Given the description of an element on the screen output the (x, y) to click on. 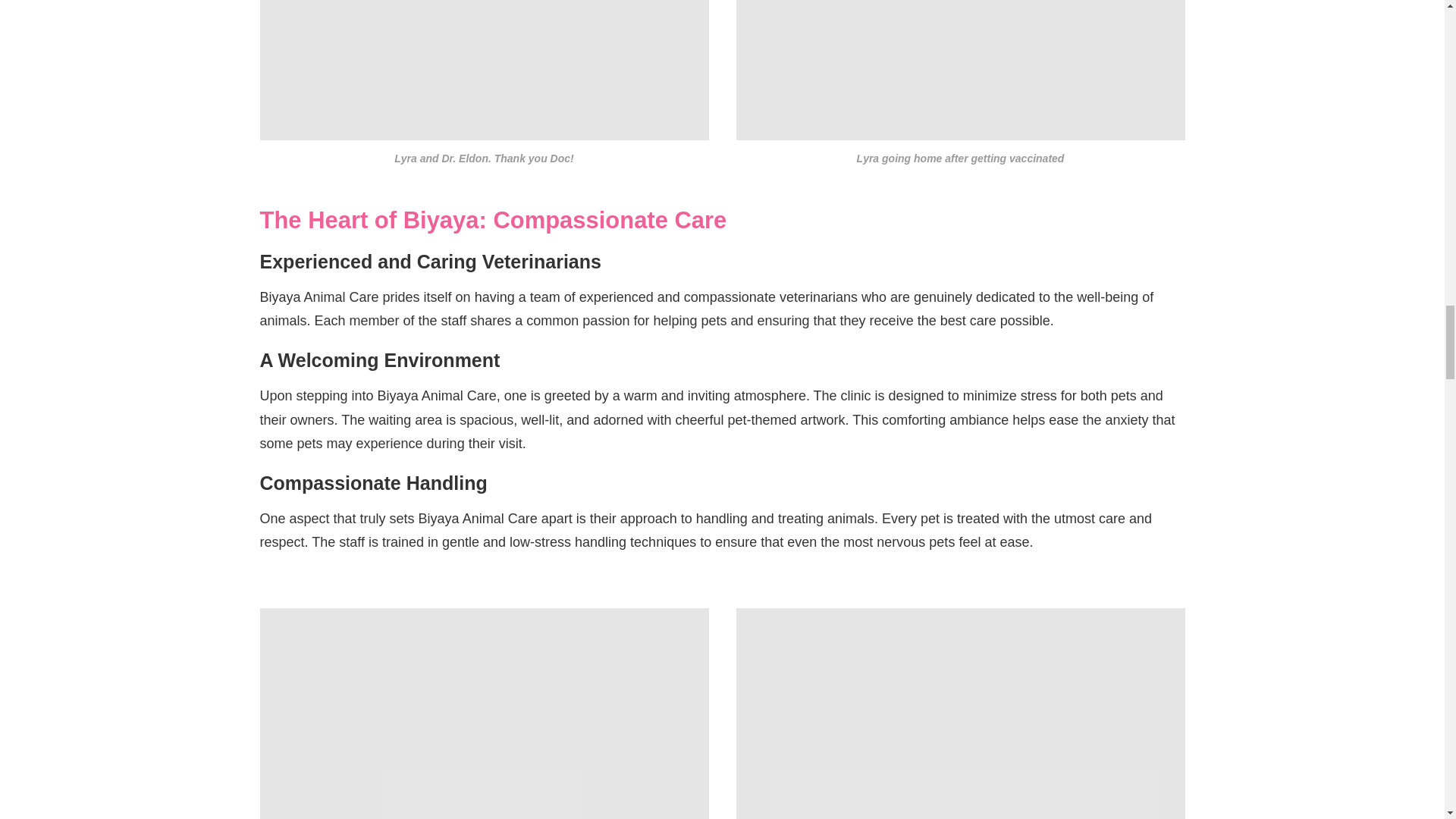
Biyaya Animal Care: Where Compassion Meets Affordability 4 (483, 70)
Biyaya Animal Care: Where Compassion Meets Affordability 6 (483, 713)
Biyaya Animal Care: Where Compassion Meets Affordability 7 (960, 713)
Biyaya Animal Care: Where Compassion Meets Affordability 5 (960, 70)
